Given the description of an element on the screen output the (x, y) to click on. 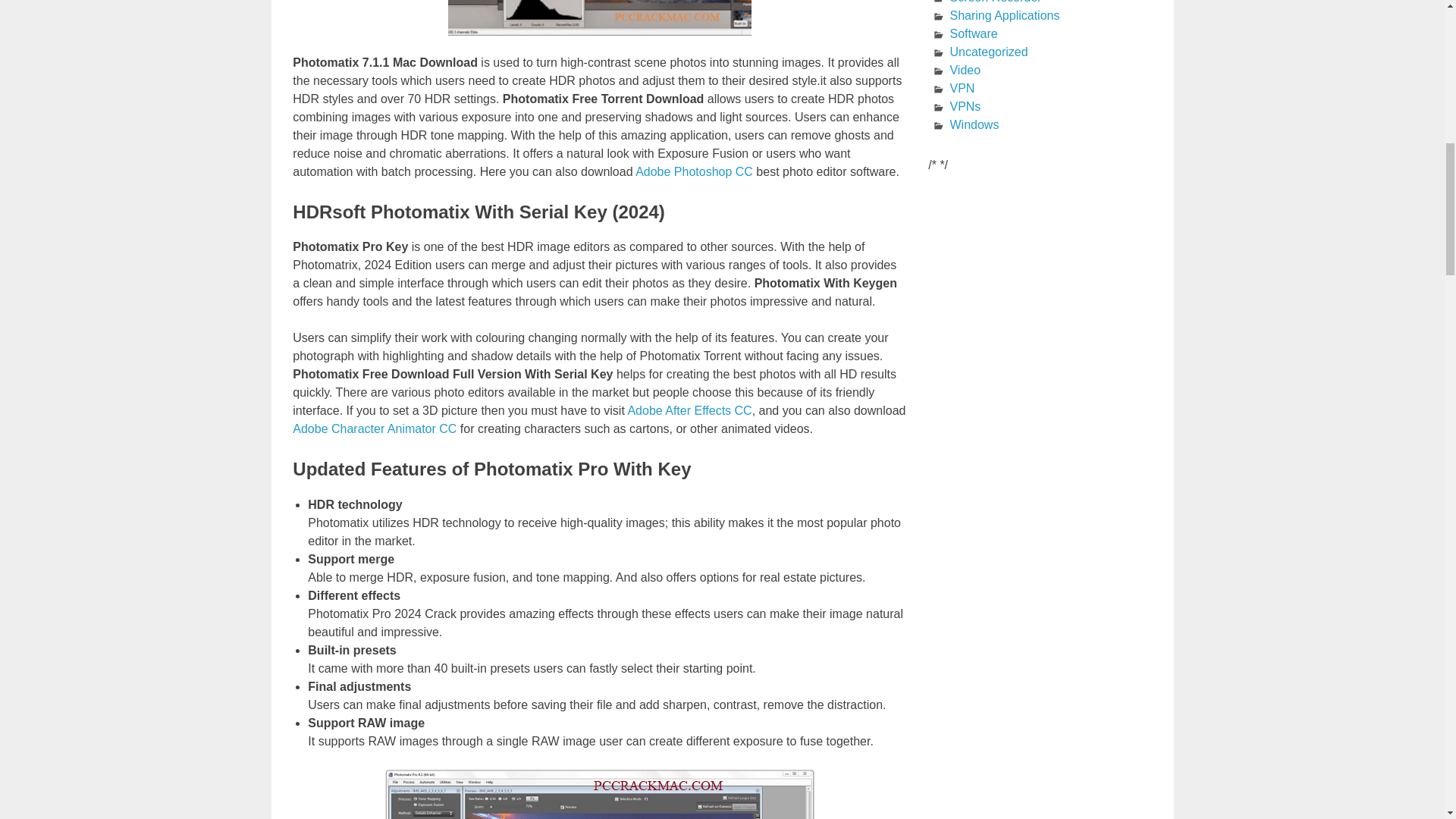
Adobe Photoshop CC (693, 171)
Adobe Character Animator CC (374, 428)
Adobe After Effects CC (689, 410)
